Given the description of an element on the screen output the (x, y) to click on. 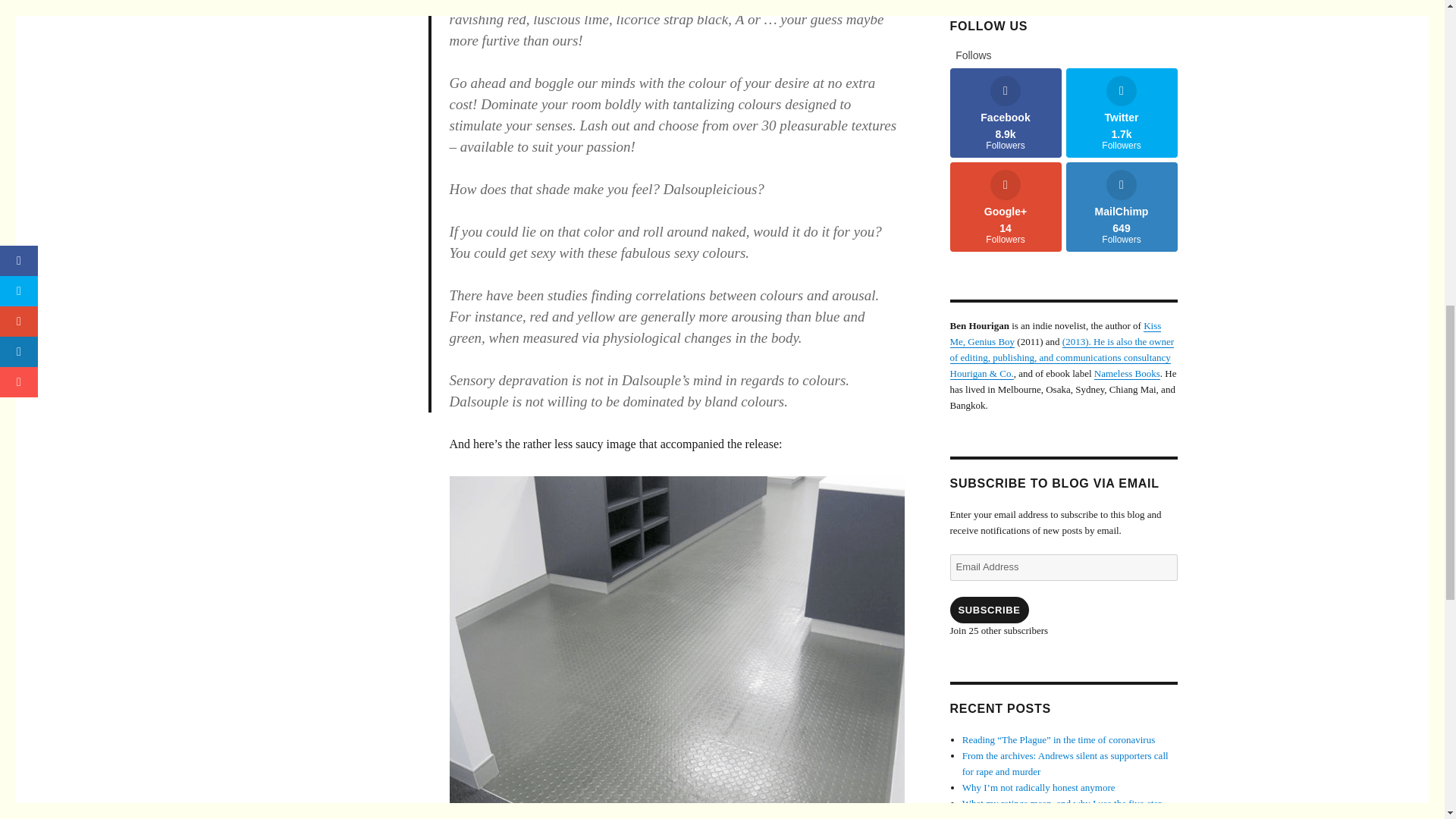
Nameless Books (1121, 206)
SUBSCRIBE (1127, 373)
Kiss Me, Genius Boy (988, 610)
